Given the description of an element on the screen output the (x, y) to click on. 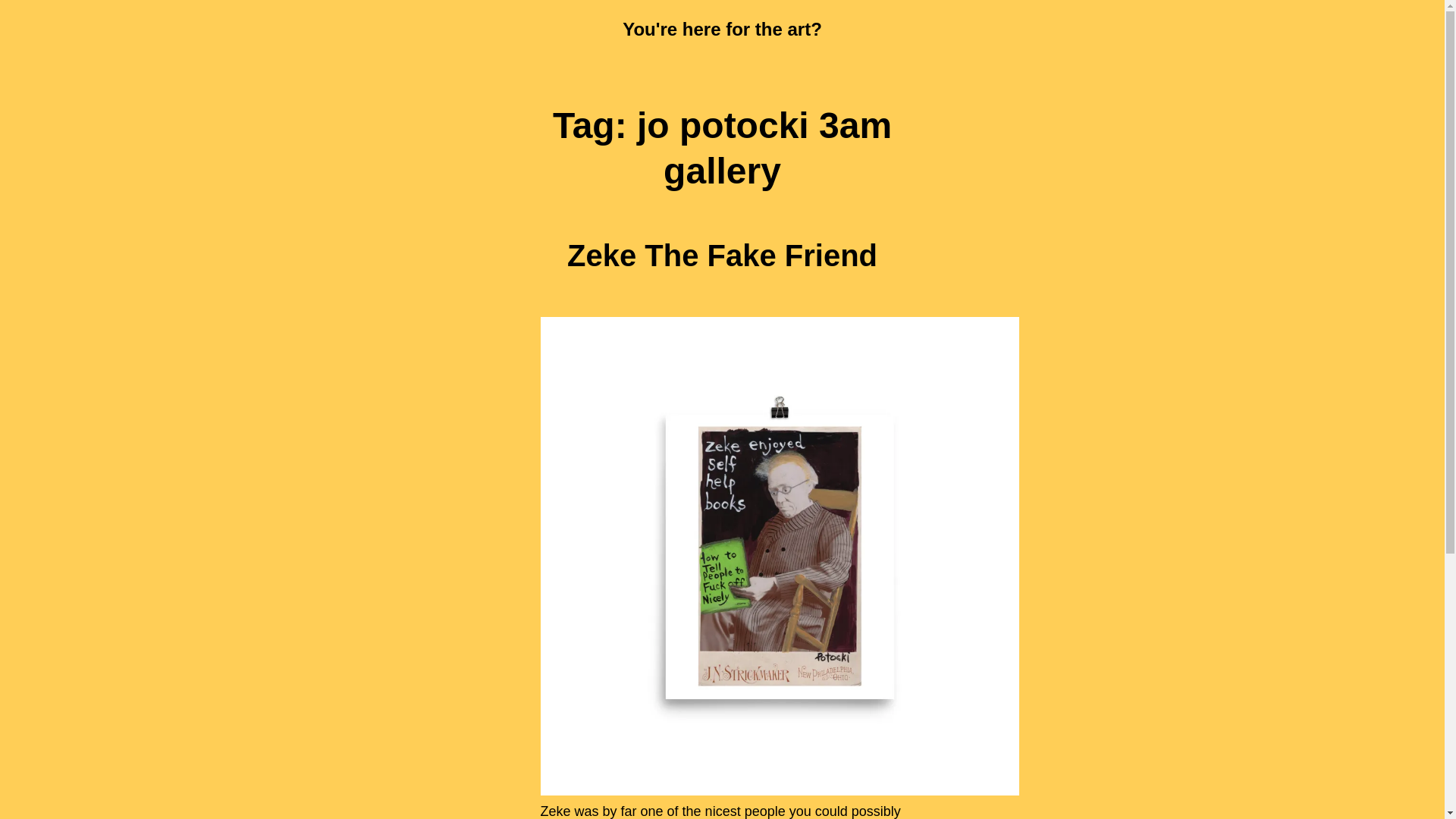
Zeke The Fake Friend (722, 255)
You're here for the art? (722, 28)
